Given the description of an element on the screen output the (x, y) to click on. 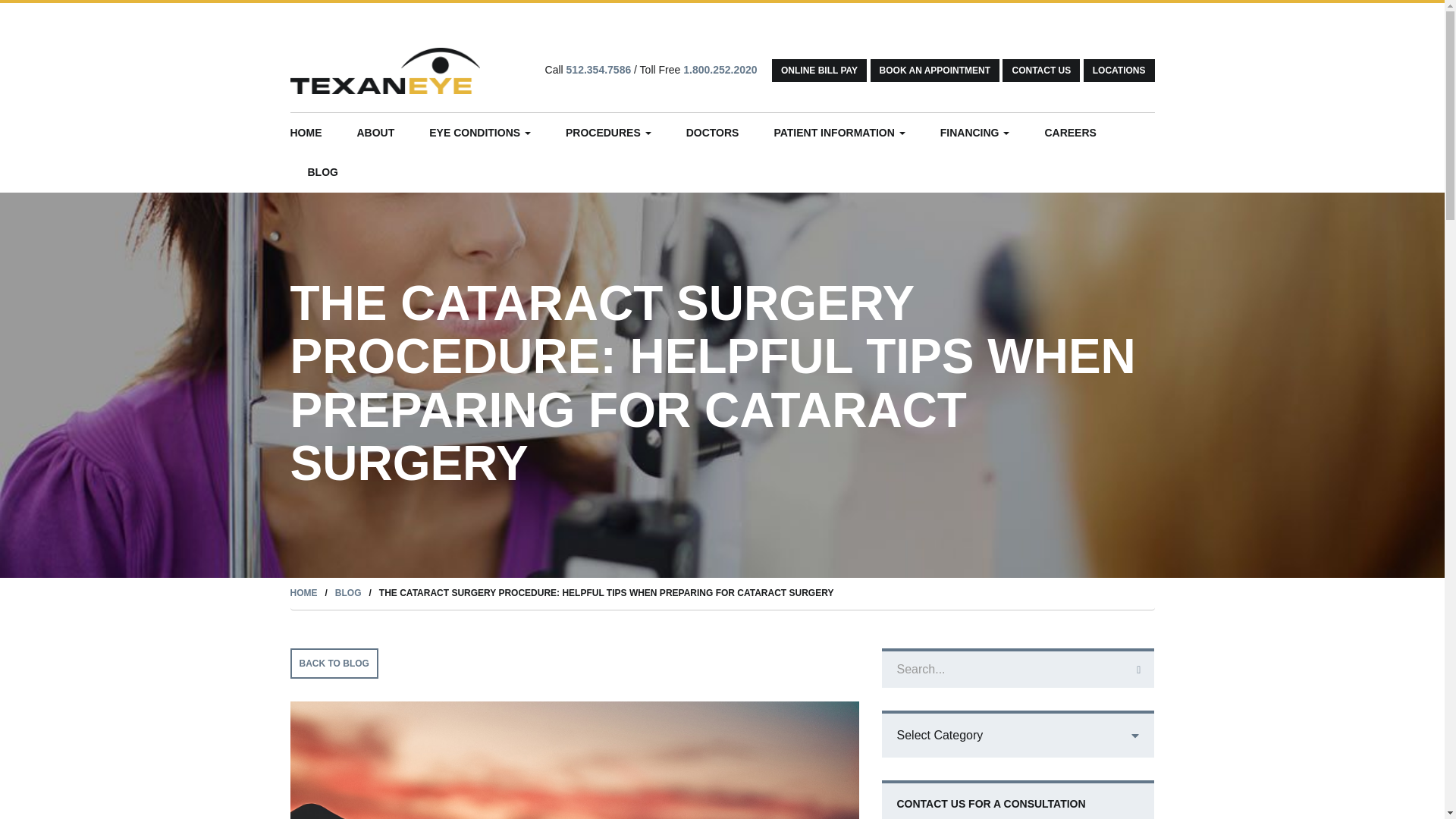
About (375, 132)
ONLINE BILL PAY (818, 69)
512.354.7586 (598, 69)
DOCTORS (712, 132)
LOCATIONS (1118, 69)
HOME (314, 132)
Eye Conditions (480, 132)
PATIENT INFORMATION (838, 132)
Procedures (608, 132)
Home (314, 132)
BOOK AN APPOINTMENT (934, 69)
EYE CONDITIONS (480, 132)
1.800.252.2020 (719, 69)
ABOUT (375, 132)
PROCEDURES (608, 132)
